Given the description of an element on the screen output the (x, y) to click on. 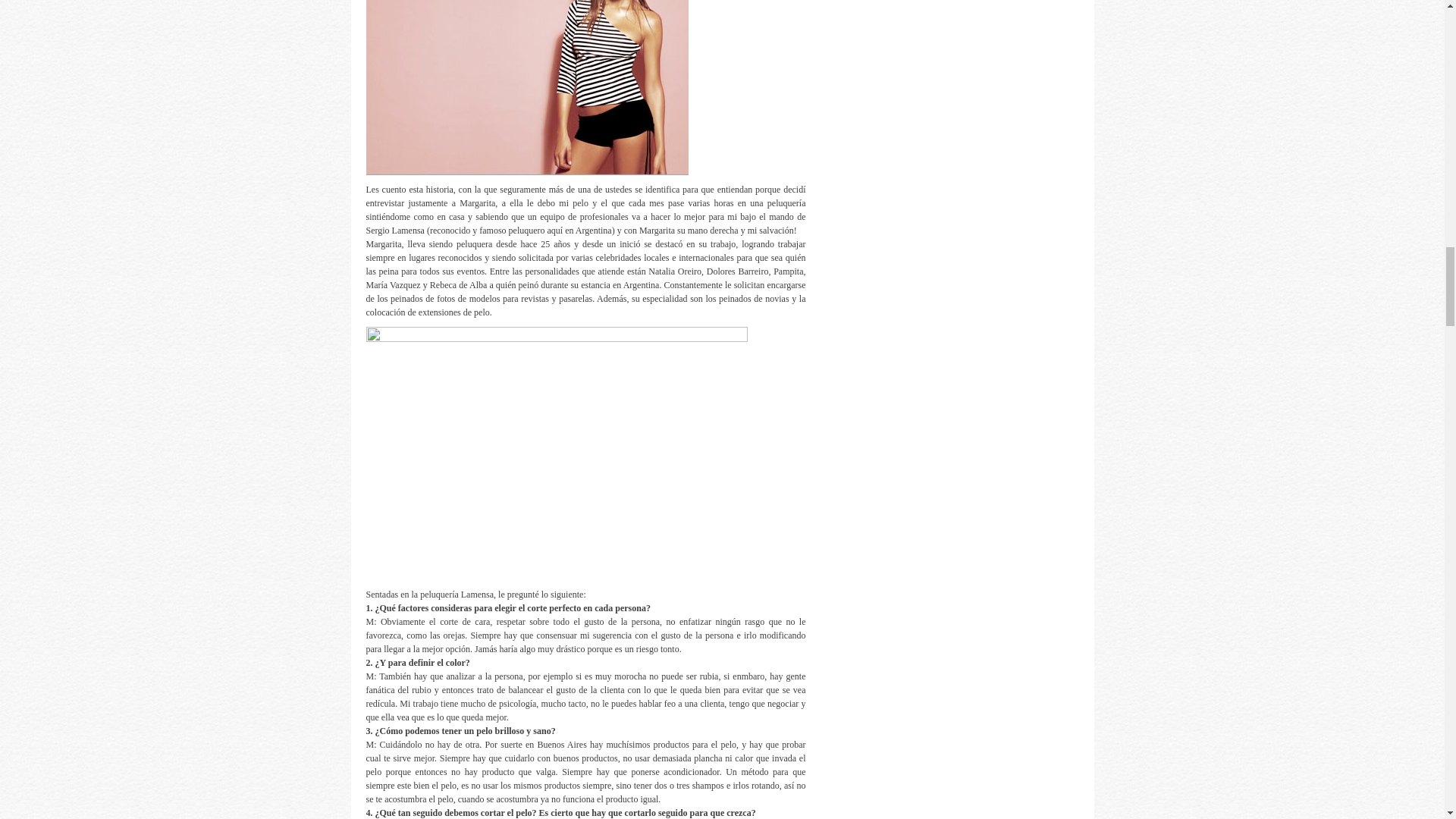
Picture 78 (526, 87)
Picture 89 (555, 452)
